Given the description of an element on the screen output the (x, y) to click on. 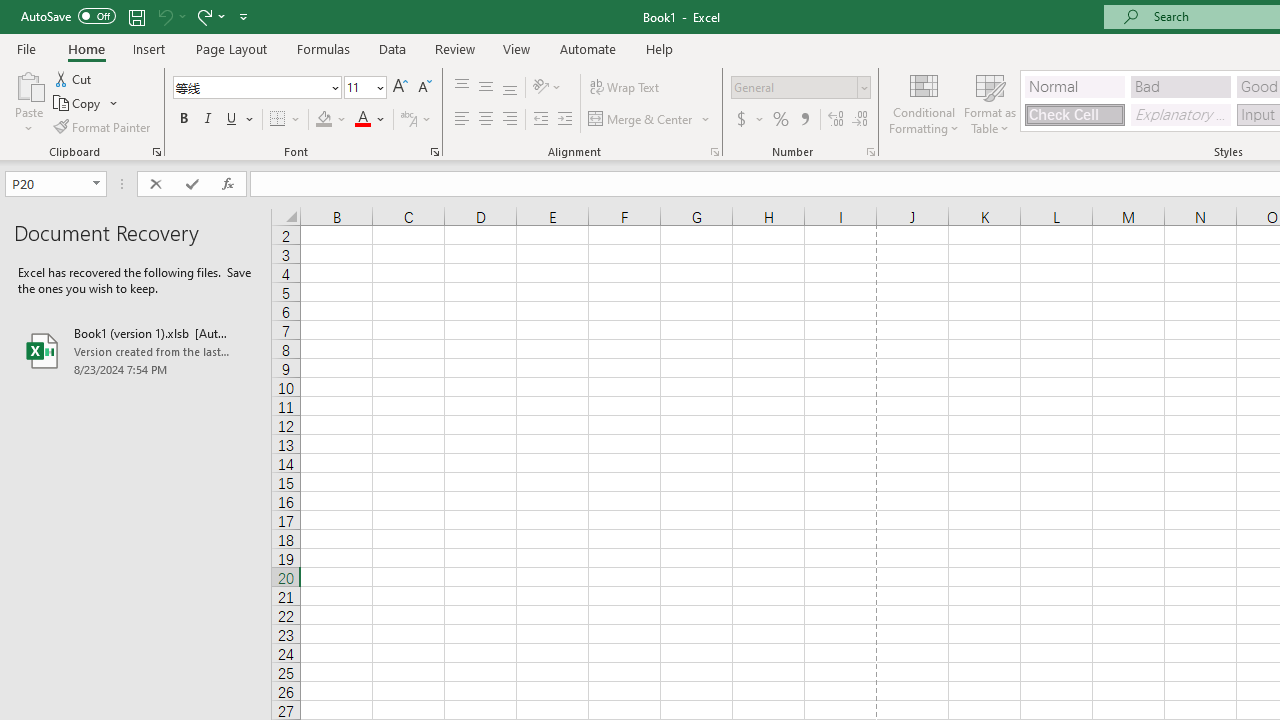
Format Cell Font (434, 151)
Increase Font Size (399, 87)
Copy (78, 103)
Check Cell (1074, 114)
Office Clipboard... (156, 151)
Decrease Decimal (859, 119)
Italic (207, 119)
Format Cell Alignment (714, 151)
Show Phonetic Field (408, 119)
Font Size (358, 87)
Merge & Center (641, 119)
Font Size (365, 87)
Number Format (800, 87)
